Given the description of an element on the screen output the (x, y) to click on. 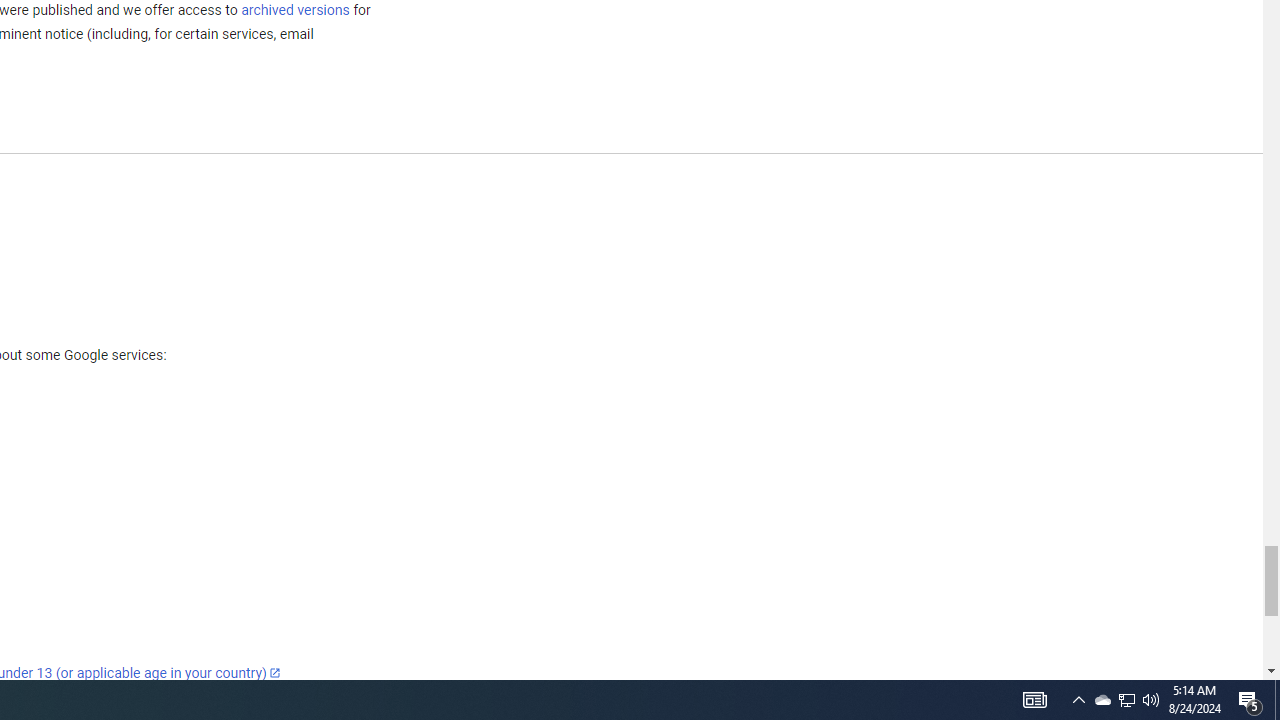
archived versions (294, 9)
